Given the description of an element on the screen output the (x, y) to click on. 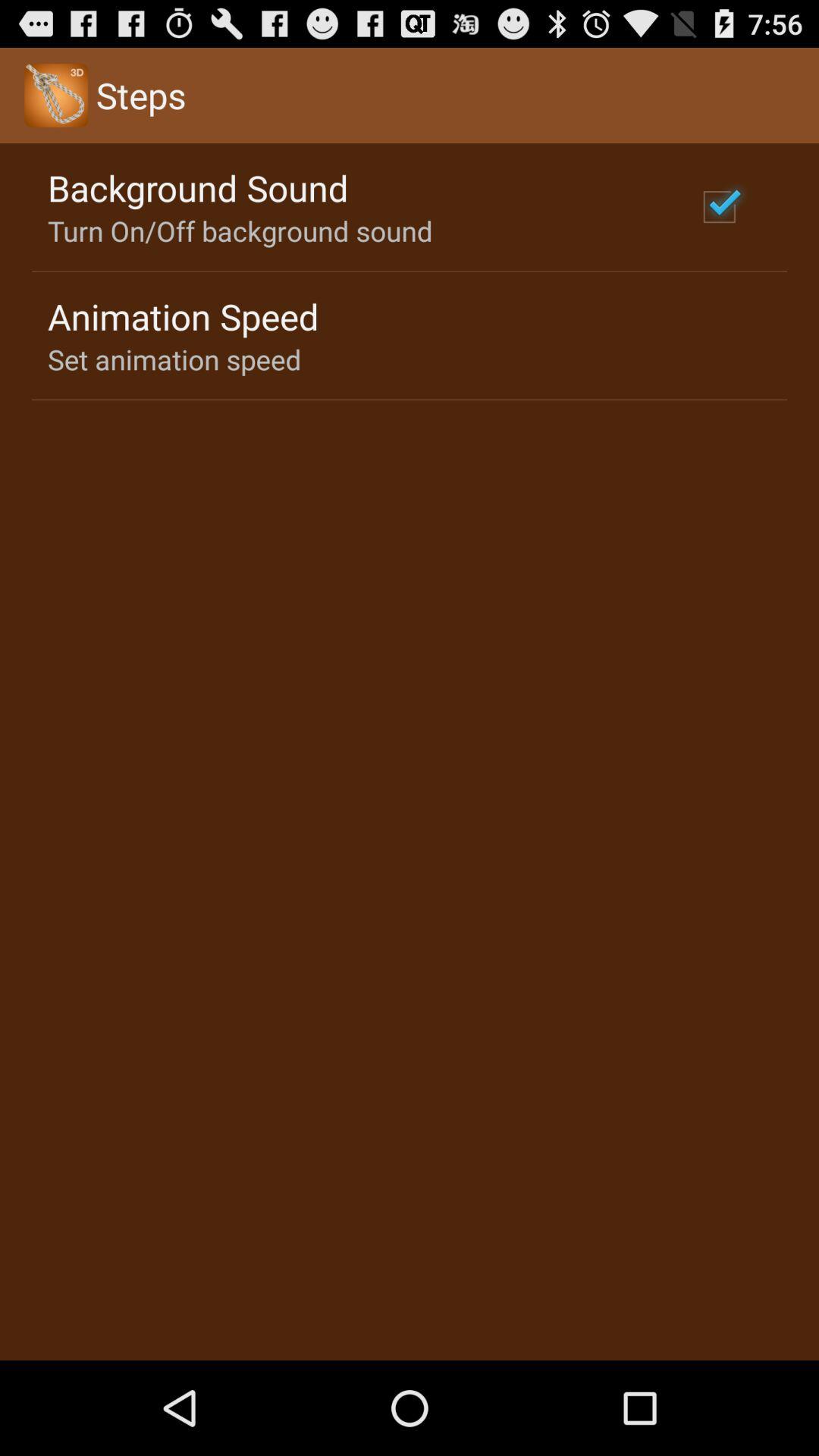
click the item above the animation speed icon (239, 230)
